Given the description of an element on the screen output the (x, y) to click on. 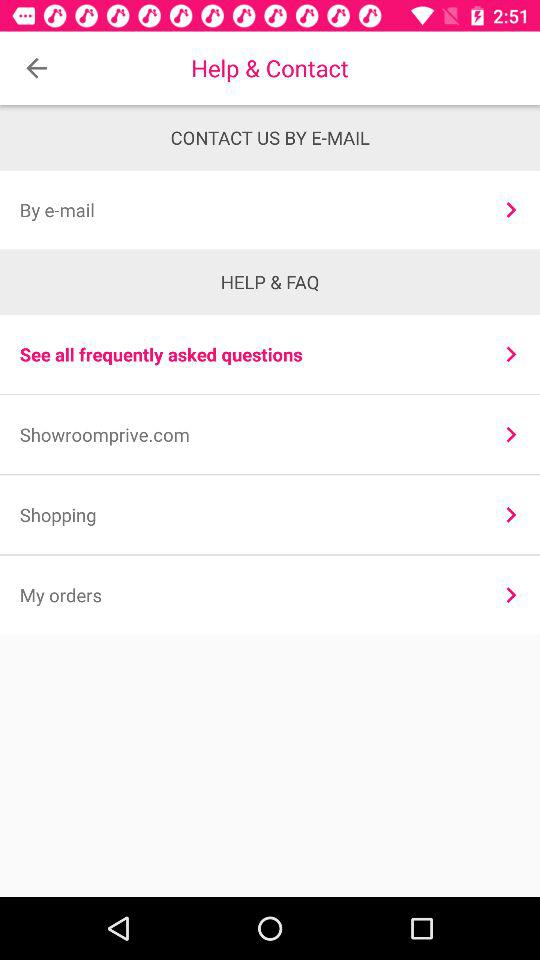
click item at the top left corner (36, 68)
